Given the description of an element on the screen output the (x, y) to click on. 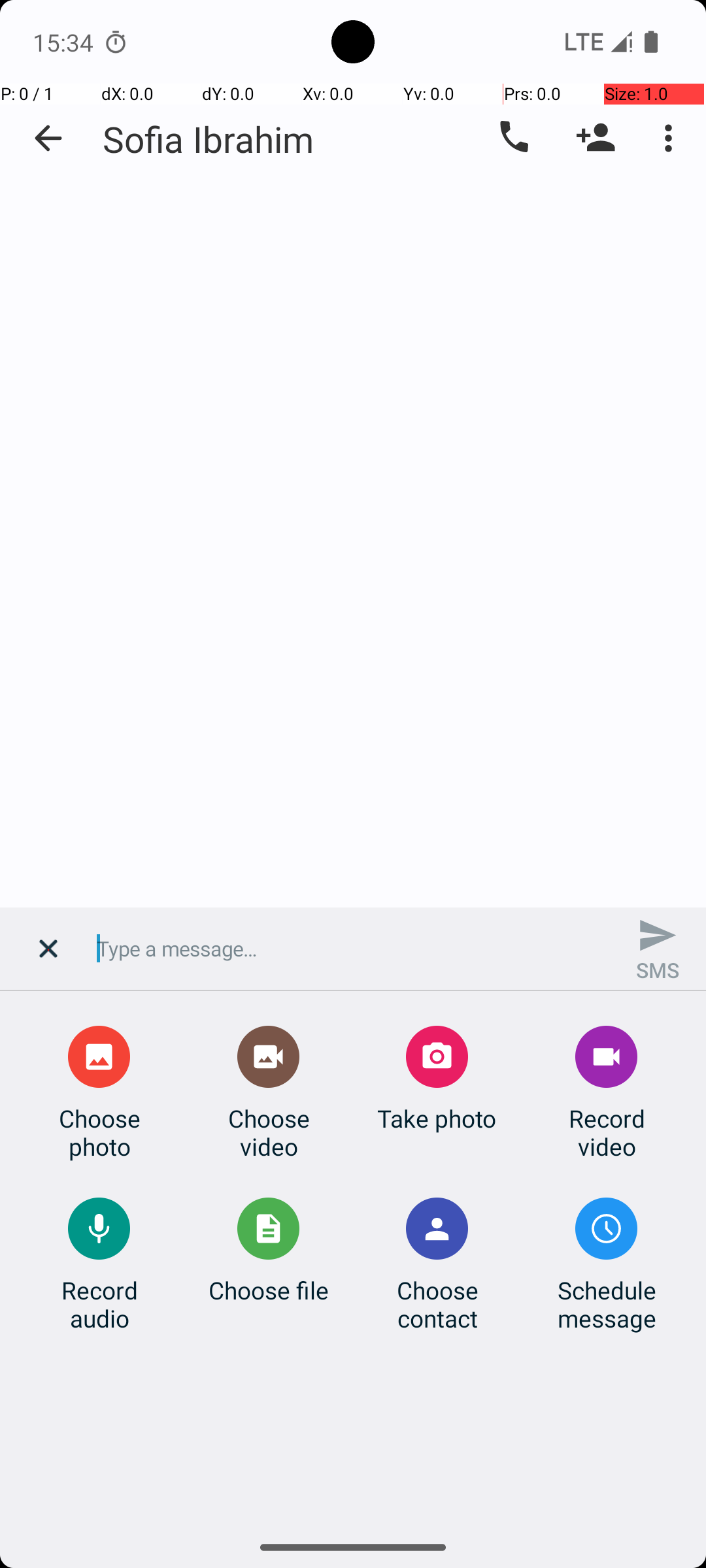
Sofia Ibrahim Element type: android.widget.TextView (207, 138)
Choose photo Element type: android.widget.TextView (98, 1131)
Choose video Element type: android.widget.TextView (268, 1131)
Record video Element type: android.widget.TextView (606, 1131)
Record audio Element type: android.widget.TextView (98, 1303)
Choose file Element type: android.widget.TextView (268, 1289)
Choose contact Element type: android.widget.TextView (436, 1303)
Schedule message Element type: android.widget.TextView (606, 1303)
